Given the description of an element on the screen output the (x, y) to click on. 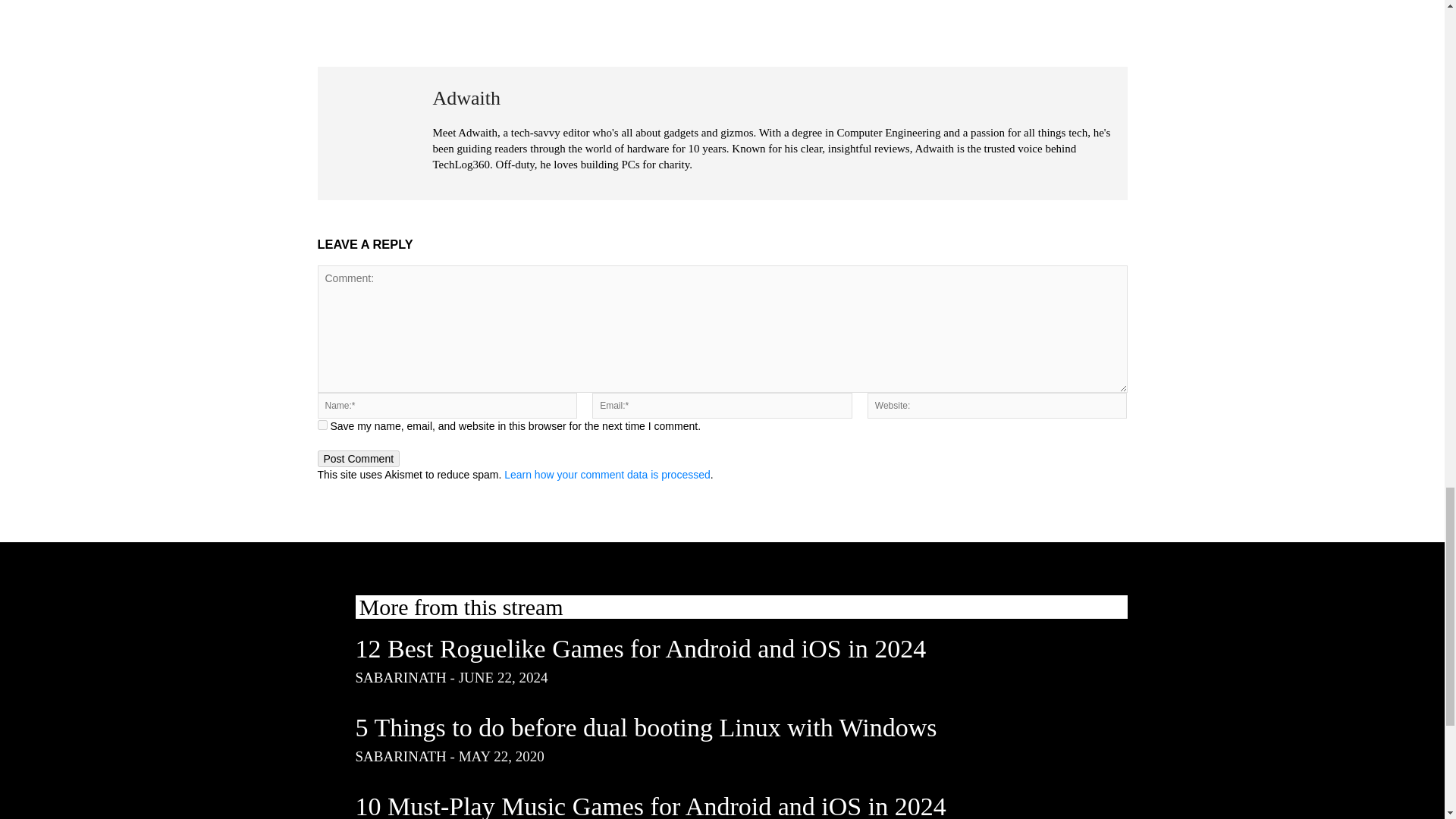
yes (321, 424)
Post Comment (357, 458)
